Given the description of an element on the screen output the (x, y) to click on. 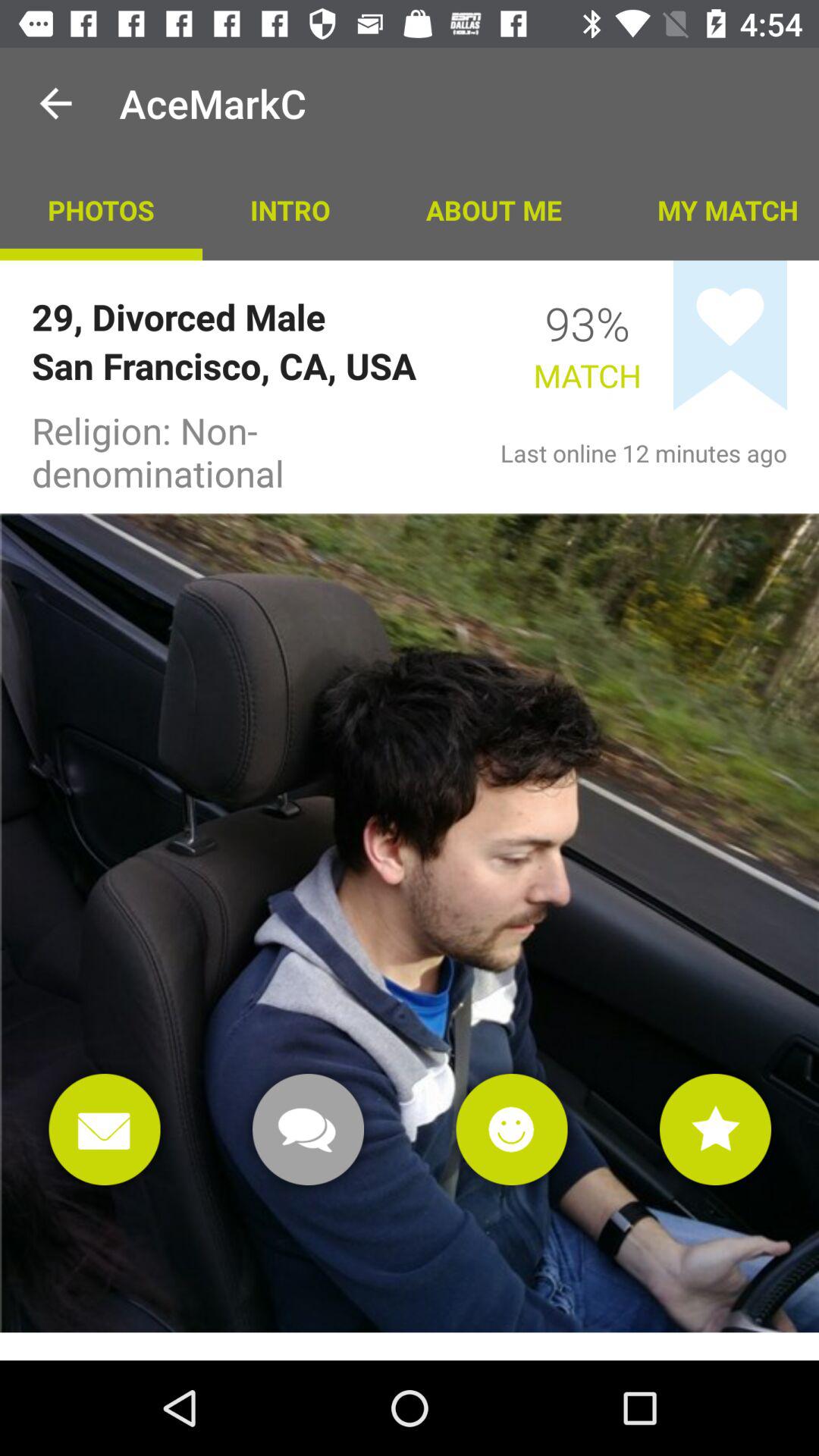
add to favorite (715, 1129)
